Given the description of an element on the screen output the (x, y) to click on. 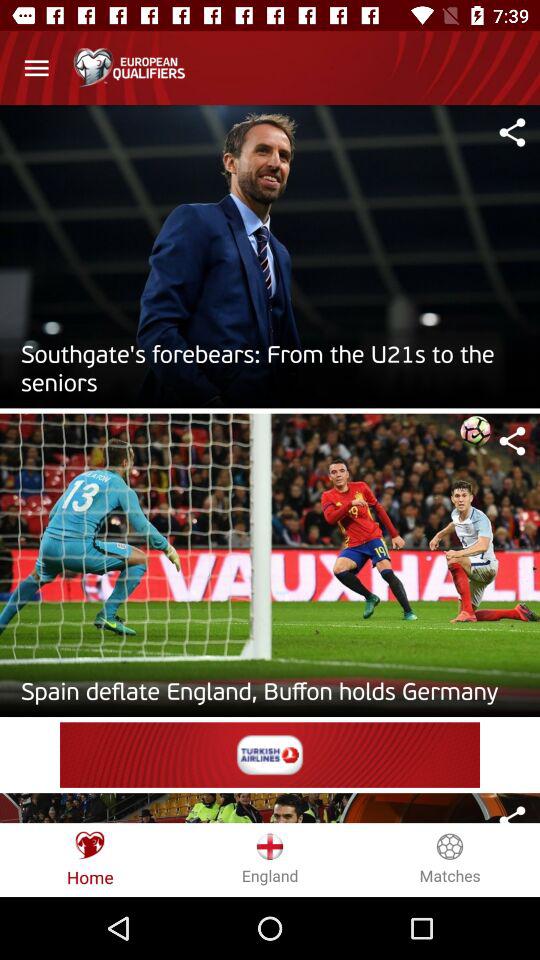
go to search option (512, 441)
